Given the description of an element on the screen output the (x, y) to click on. 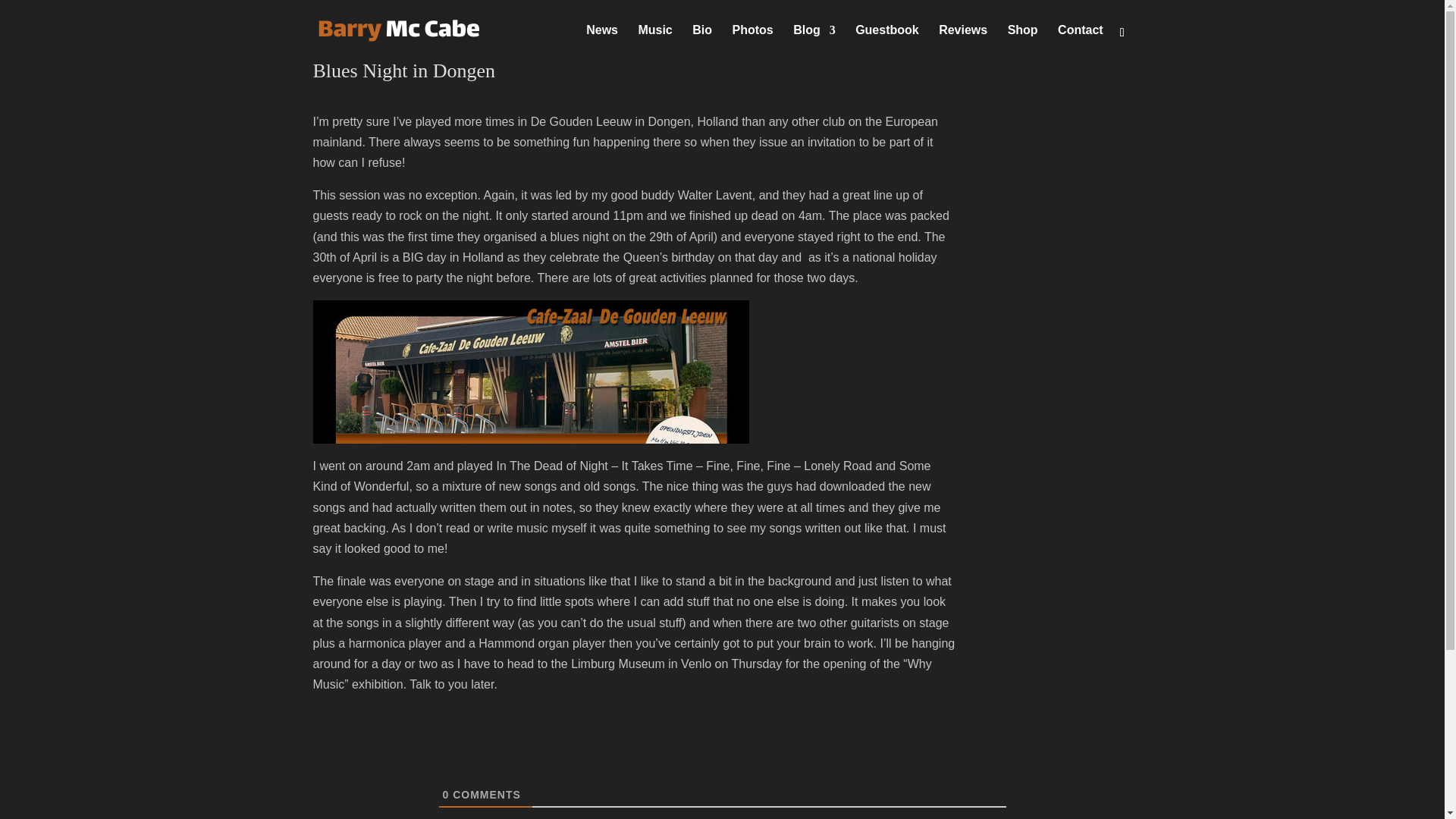
News (601, 42)
Reviews (963, 42)
Guestbook (887, 42)
Photos (752, 42)
Music (654, 42)
Contact (1080, 42)
Blog (814, 42)
